Given the description of an element on the screen output the (x, y) to click on. 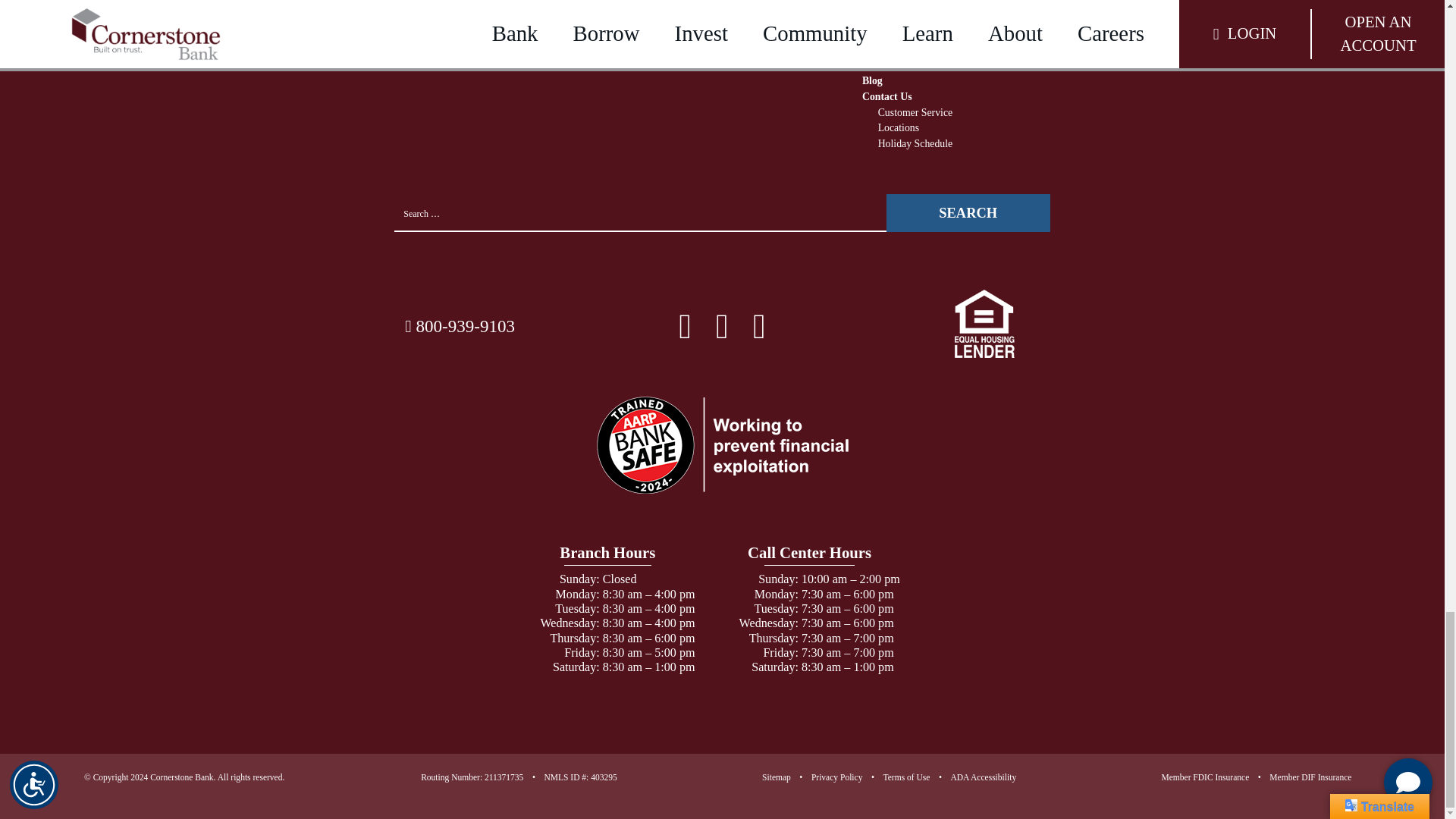
Search (967, 212)
Search (967, 212)
